Given the description of an element on the screen output the (x, y) to click on. 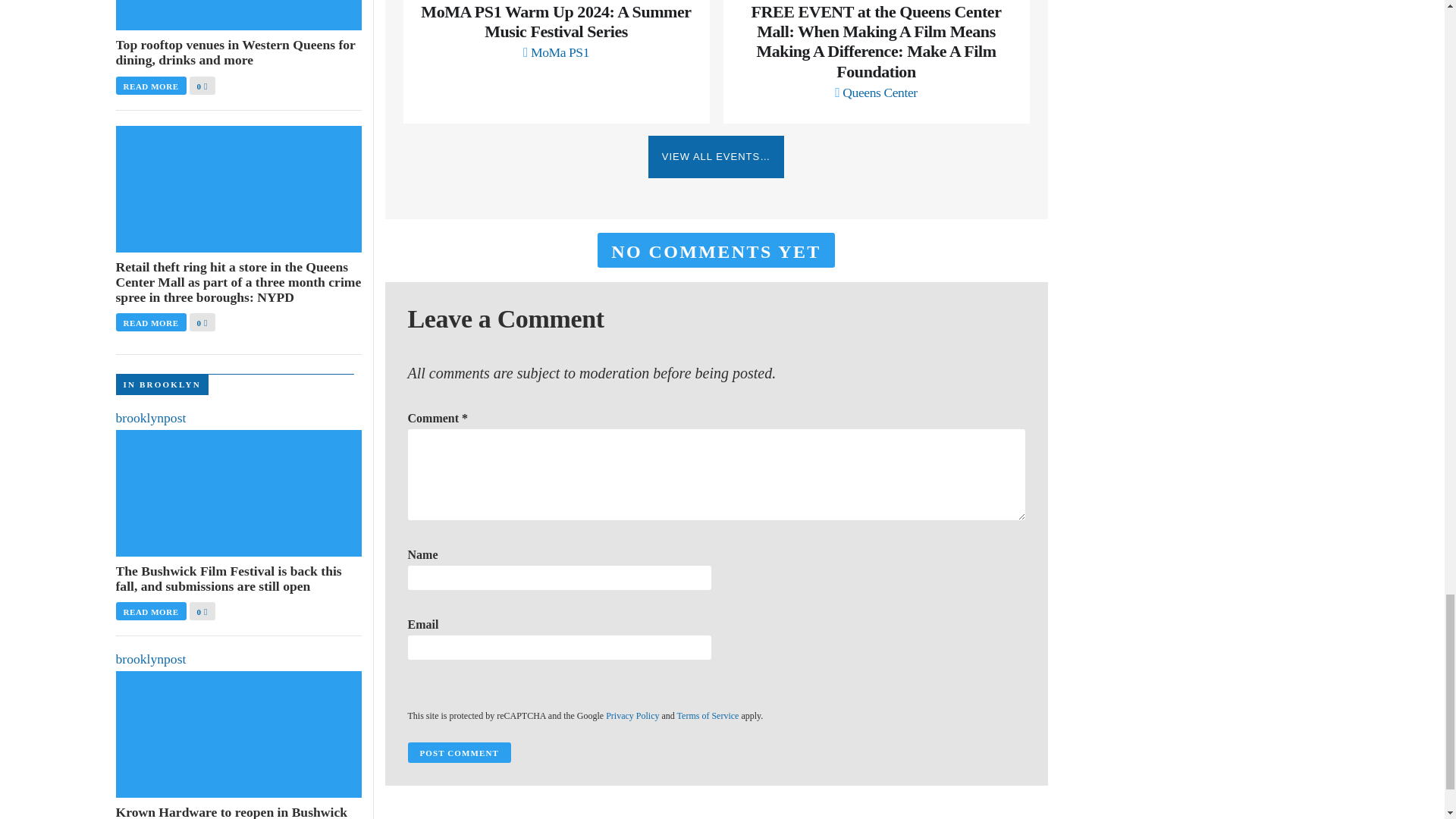
Post Comment (459, 752)
